Given the description of an element on the screen output the (x, y) to click on. 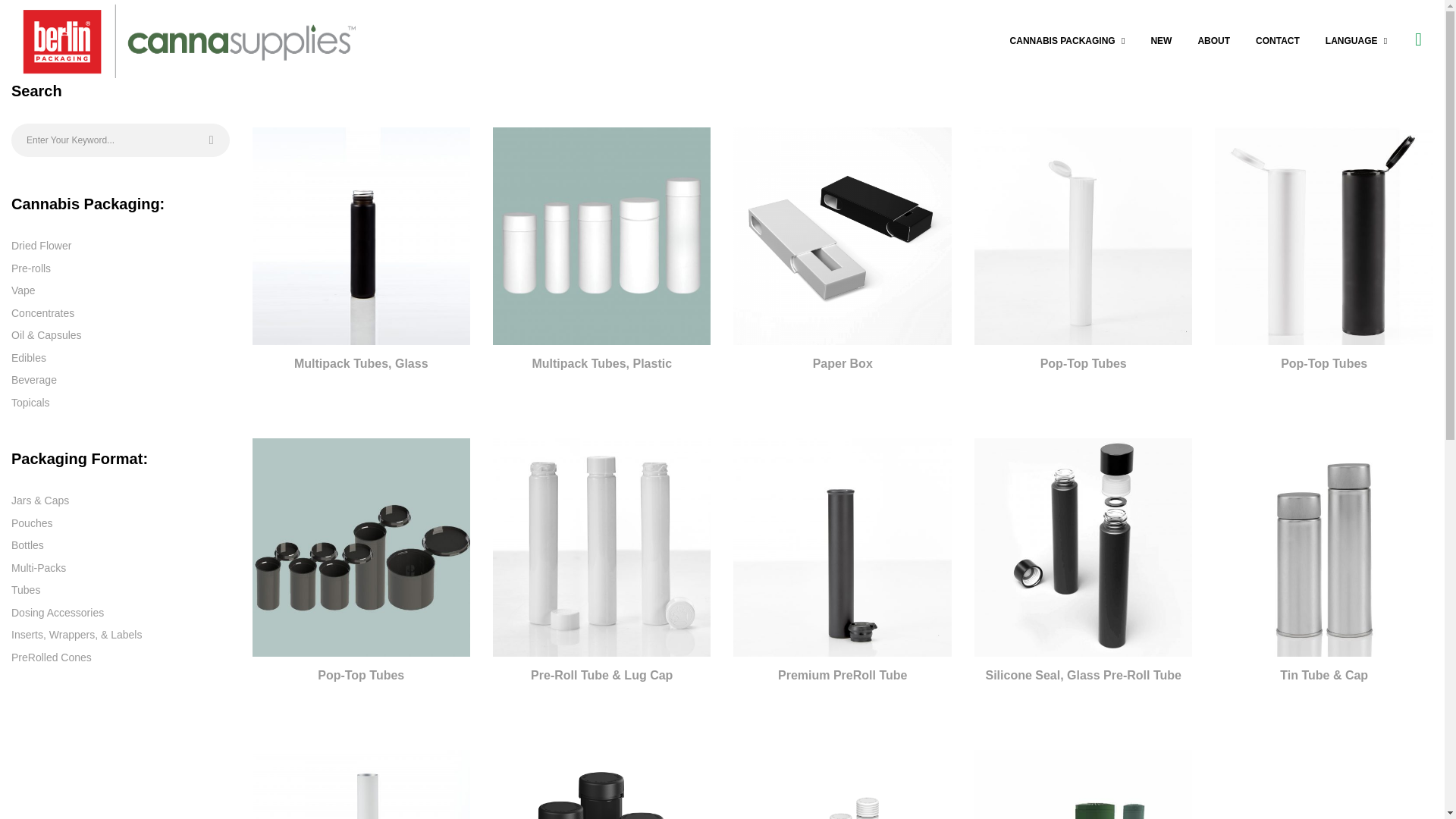
Pop-Top Tubes (1083, 235)
Multipack Tubes, Plastic (601, 235)
Multipack Tubes, Glass (359, 235)
CANNABIS PACKAGING (1067, 40)
Paper Box (841, 235)
Pop-Top Tubes (359, 547)
Silicone Seal, Glass Pre-Roll Tube (1083, 547)
Premium PreRoll Tube (841, 547)
Pop-Top Tubes (1323, 235)
